Given the description of an element on the screen output the (x, y) to click on. 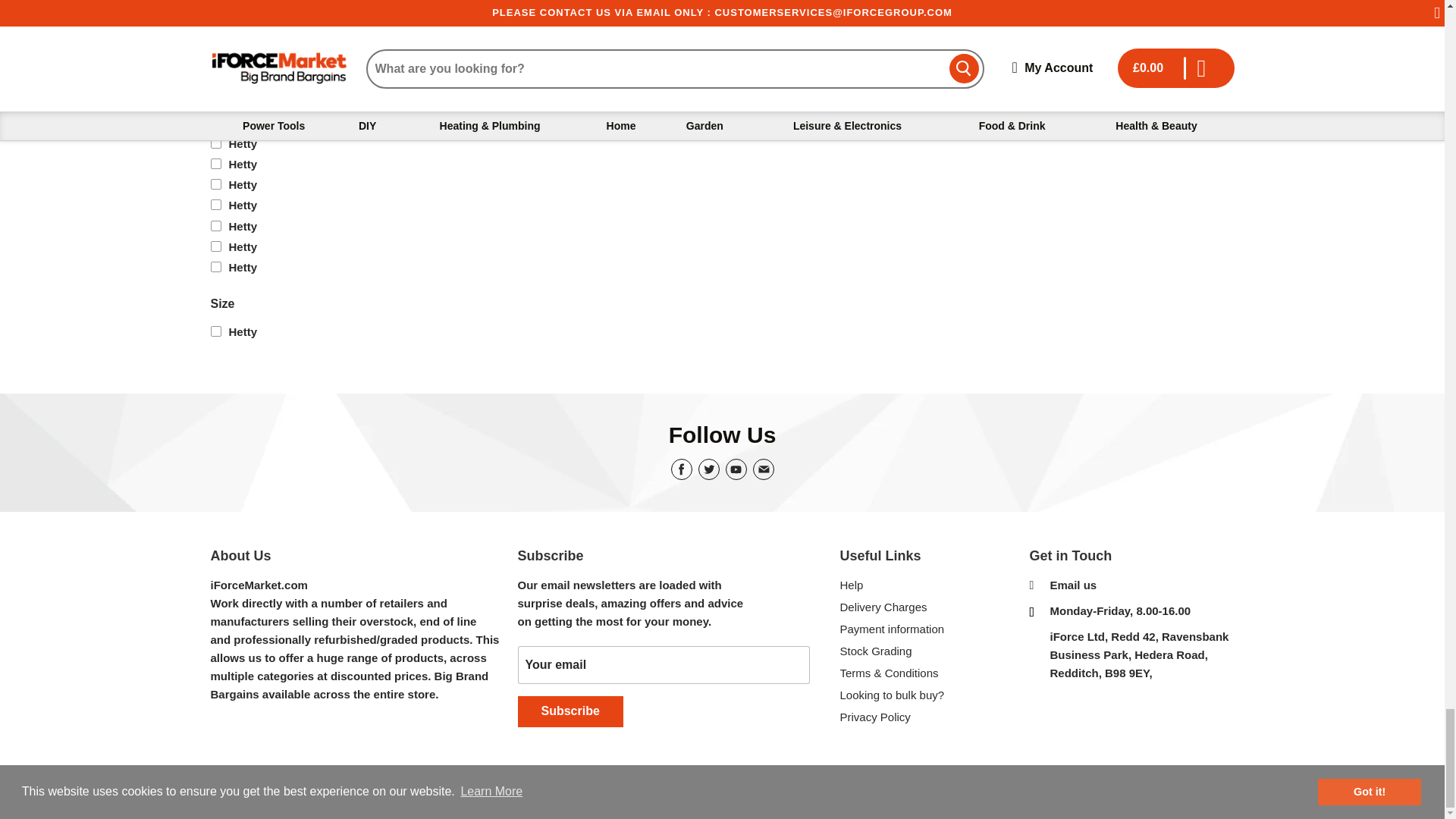
Hetty (280, 331)
